Given the description of an element on the screen output the (x, y) to click on. 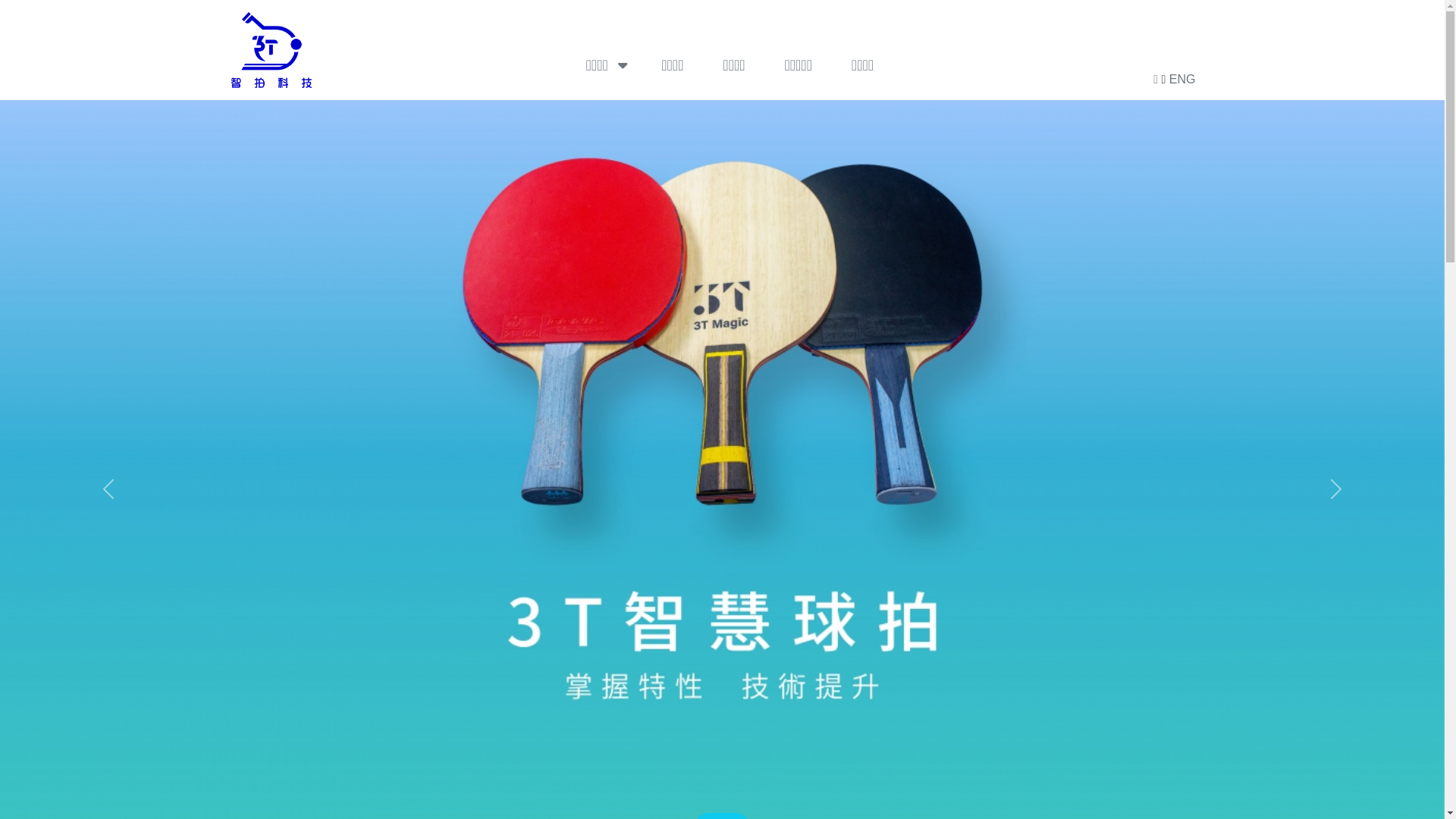
ENG Element type: text (1182, 78)
